Given the description of an element on the screen output the (x, y) to click on. 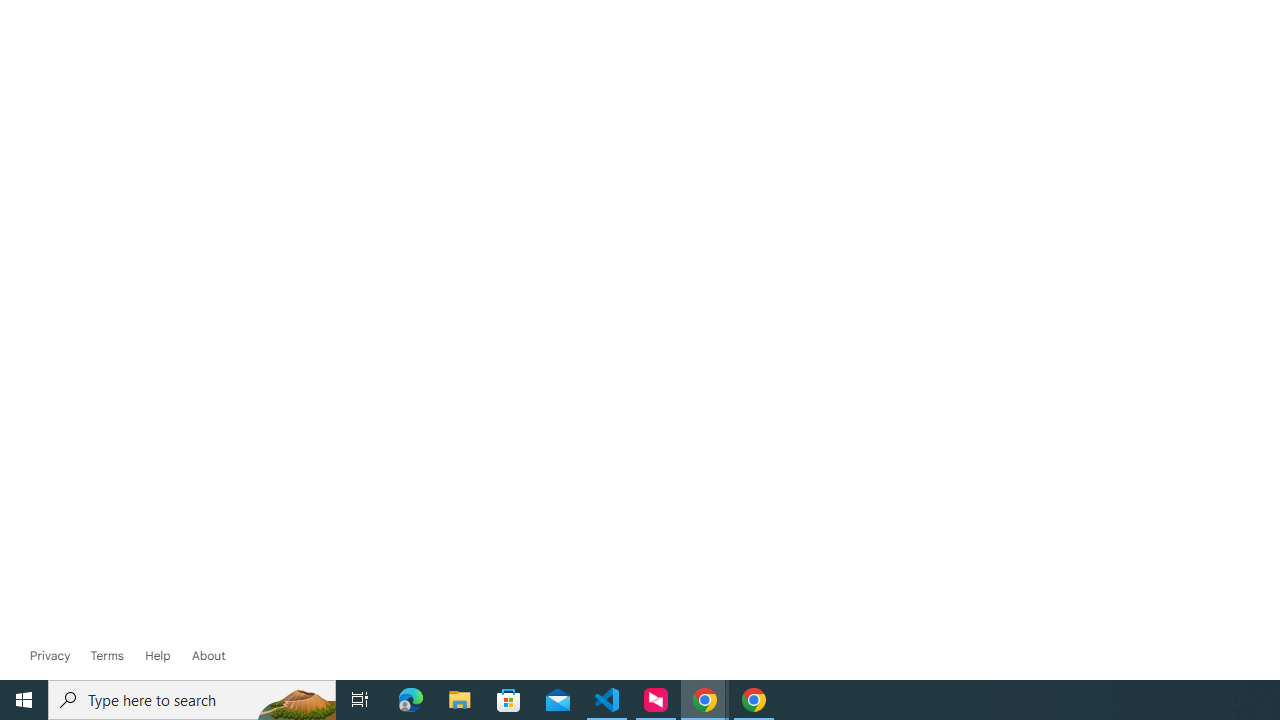
Learn more about Google Account (208, 655)
